Given the description of an element on the screen output the (x, y) to click on. 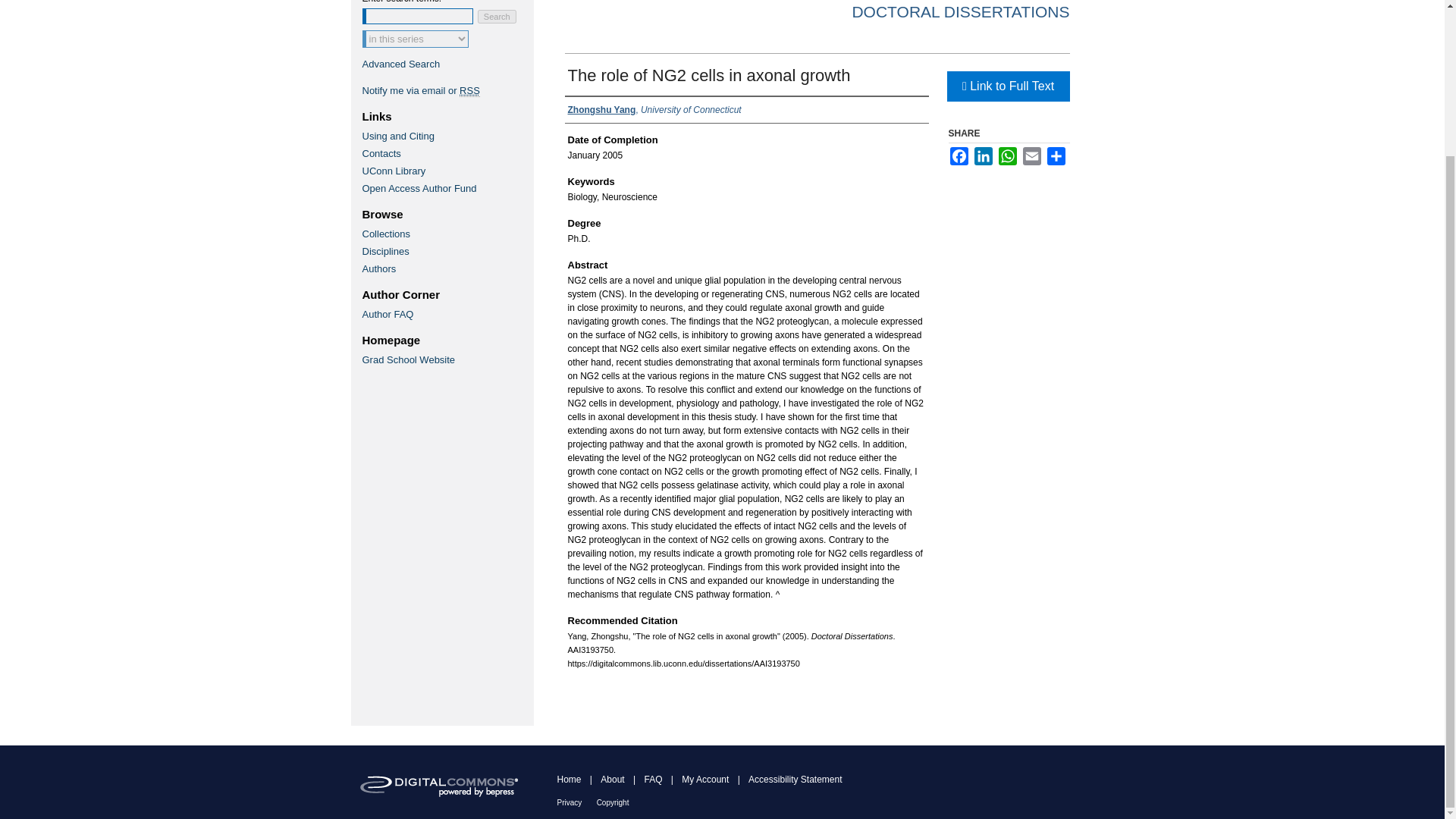
Email (1031, 156)
Collections (447, 233)
Search (496, 16)
Authors (447, 268)
Using and Citing (447, 135)
Disciplines (447, 251)
DOCTORAL DISSERTATIONS (959, 11)
Search (496, 16)
UConn Library (447, 170)
Contacts (447, 153)
Link to Full Text (1007, 86)
LinkedIn (982, 156)
Search (496, 16)
Advanced Search (401, 63)
Browse by Author (447, 268)
